Given the description of an element on the screen output the (x, y) to click on. 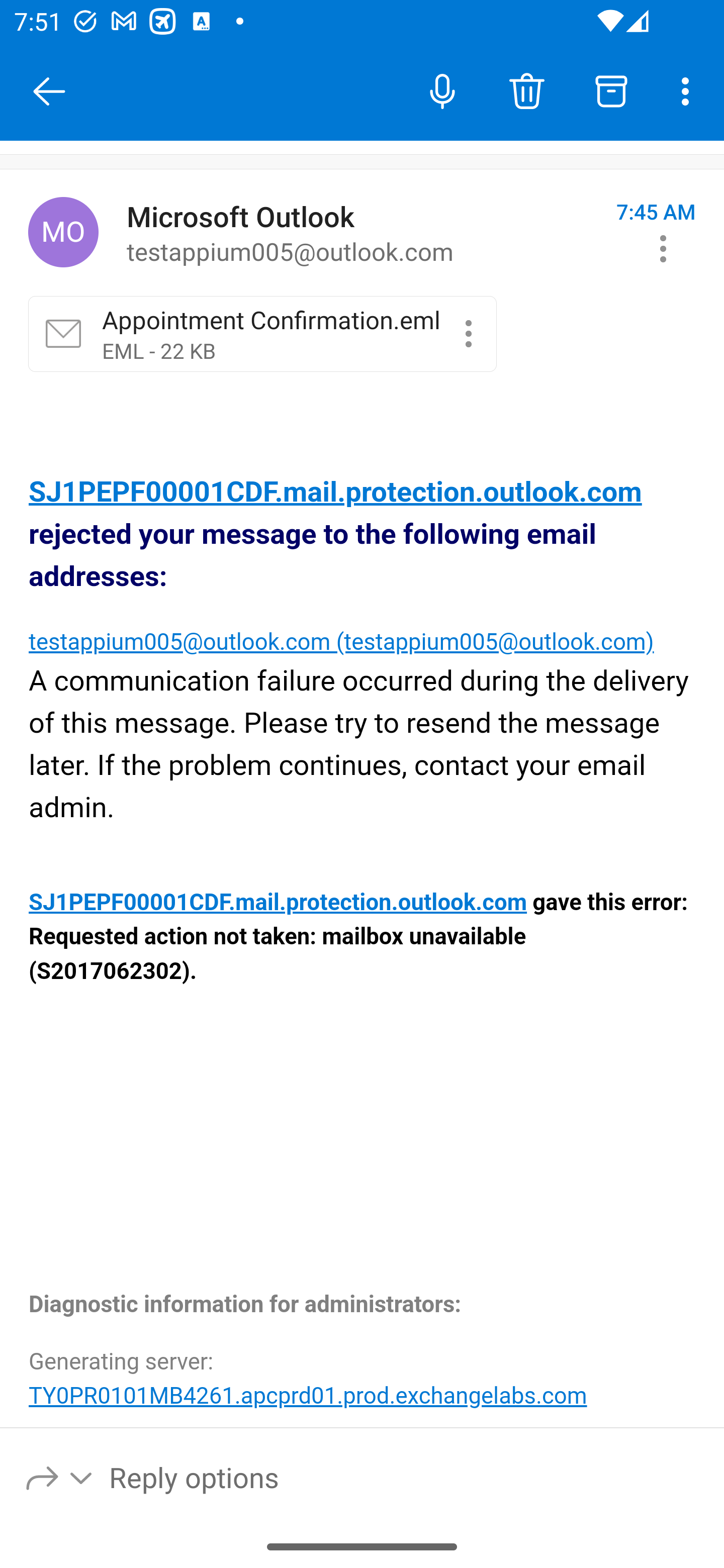
Close (49, 91)
Delete (526, 90)
Archive (611, 90)
More options (688, 90)
Microsoft Outlook
to testappium005@outlook.com (364, 232)
Message actions (663, 248)
Appointment Confirmation.eml (468, 333)
SJ1PEPF00001CDF.mail.protection.outlook.com (335, 492)
SJ1PEPF00001CDF.mail.protection.outlook.com (278, 903)
TY0PR0101MB4261.apcprd01.prod.exchangelabs.com (307, 1395)
Reply options (59, 1476)
